Given the description of an element on the screen output the (x, y) to click on. 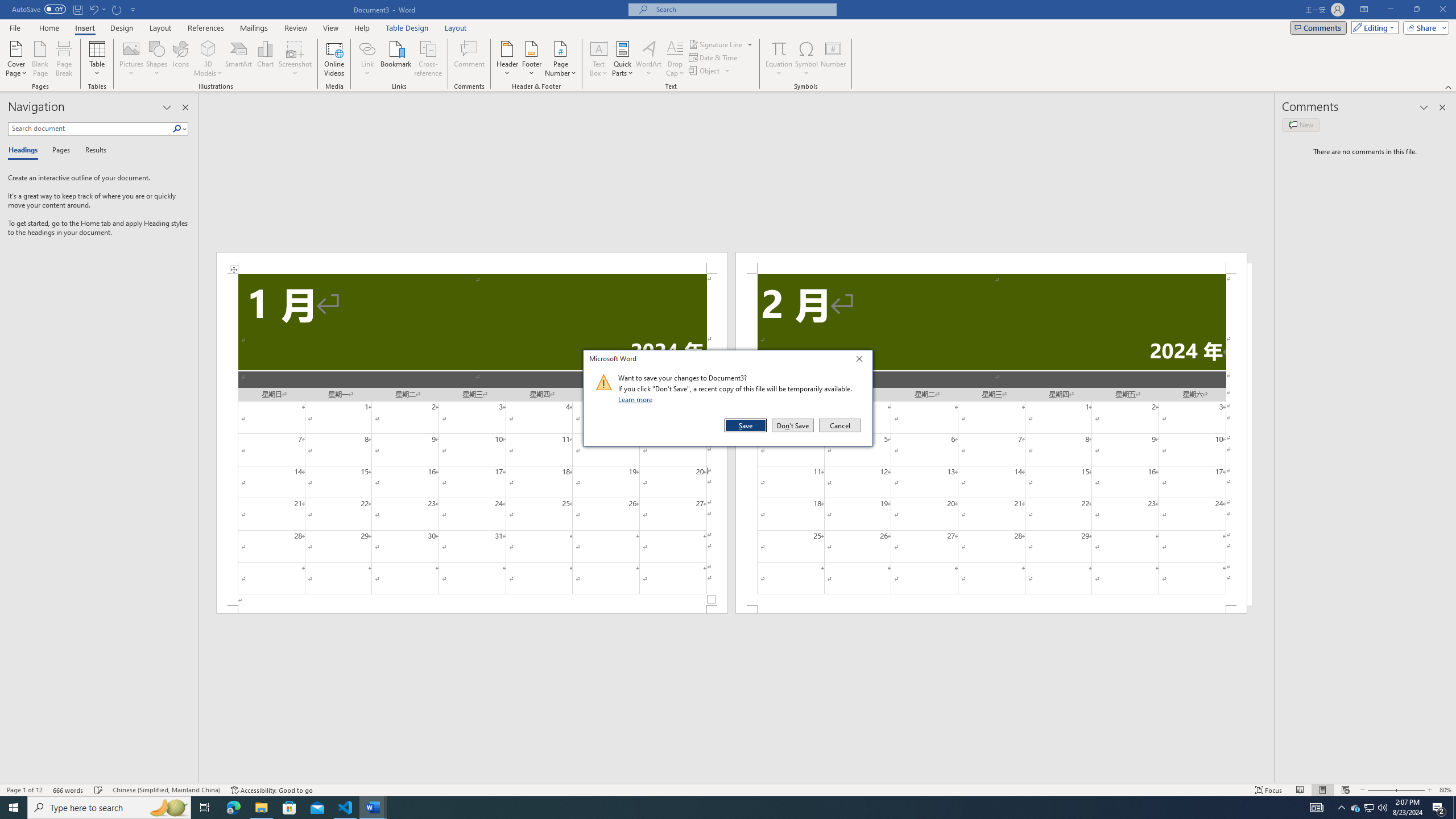
Quick Parts (622, 58)
Class: MsoCommandBar (728, 789)
Search document (89, 128)
Word Count 666 words (68, 790)
Help (1368, 807)
Pictures (361, 28)
Show desktop (131, 58)
Running applications (1454, 807)
Zoom Out (717, 807)
Screenshot (1378, 790)
Mode (295, 58)
Signature Line (1372, 27)
Mailings (716, 44)
Restore Down (253, 28)
